Given the description of an element on the screen output the (x, y) to click on. 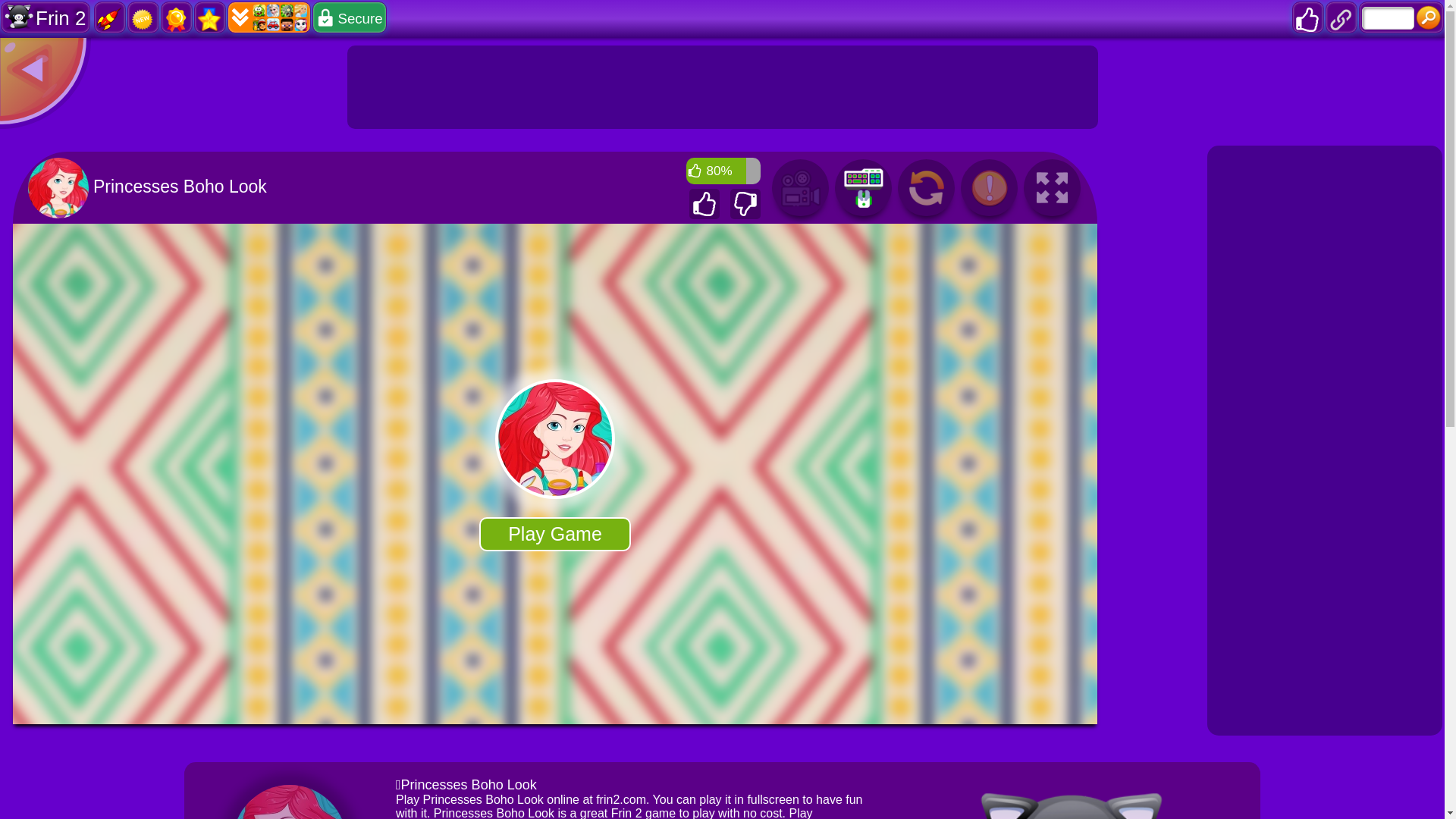
Play Game (554, 533)
Frin 2 (45, 17)
Secure (349, 17)
